Given the description of an element on the screen output the (x, y) to click on. 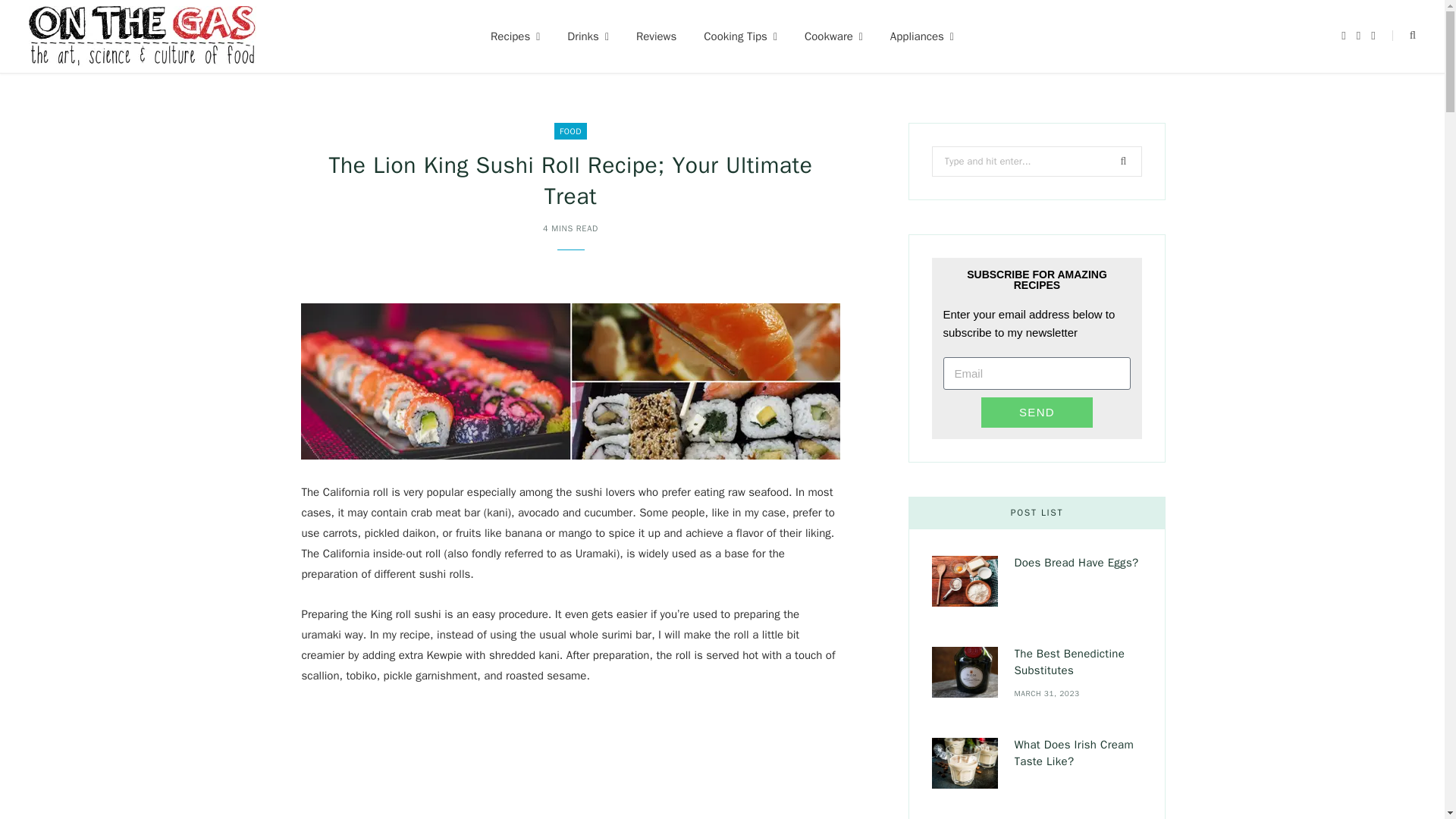
Search (1403, 36)
Instagram (1357, 35)
Pinterest (1372, 35)
Cooking Tips (740, 36)
Recipes (515, 36)
Appliances (922, 36)
Reviews (656, 36)
Drinks (588, 36)
Cookware (833, 36)
FOOD (570, 130)
Facebook (1342, 35)
